Given the description of an element on the screen output the (x, y) to click on. 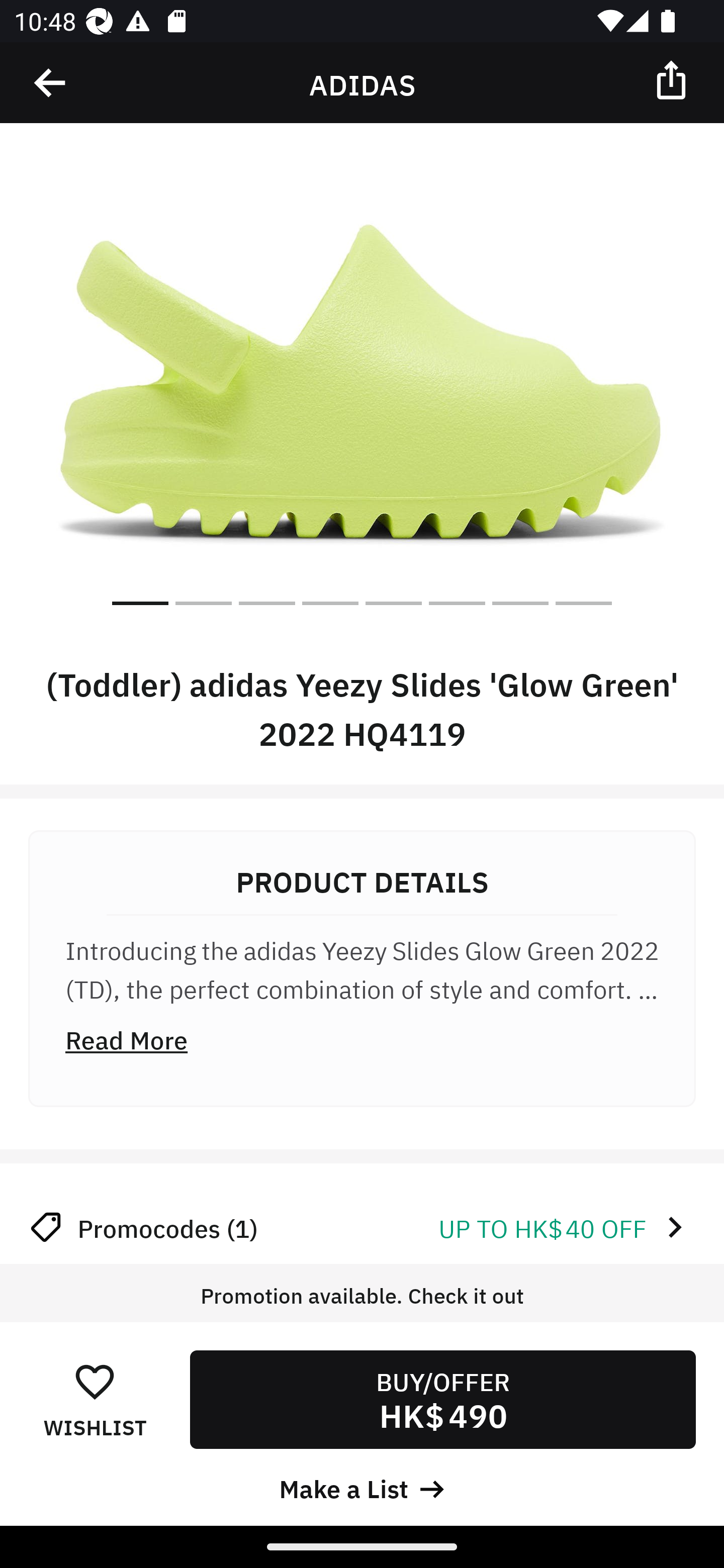
 (50, 83)
 (672, 79)
Promocodes (1) UP TO HK$ 40 OFF  (361, 1226)
BUY/OFFER HK$ 490 (442, 1399)
󰋕 (94, 1380)
Make a List (361, 1486)
